Given the description of an element on the screen output the (x, y) to click on. 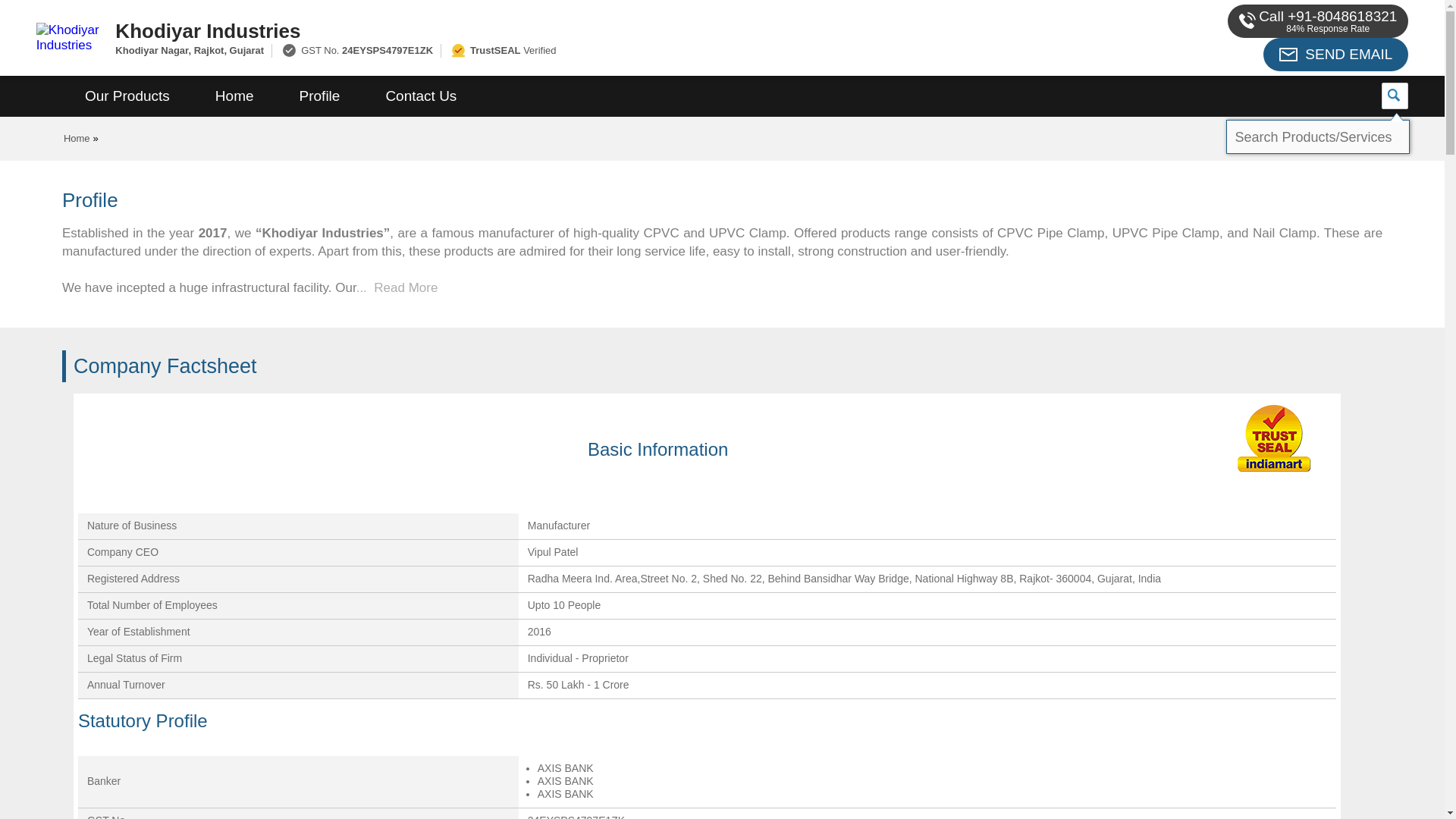
Contact Us (420, 96)
Profile (319, 96)
Our Products (127, 96)
Khodiyar Industries (552, 31)
Home (77, 138)
Home (234, 96)
